Given the description of an element on the screen output the (x, y) to click on. 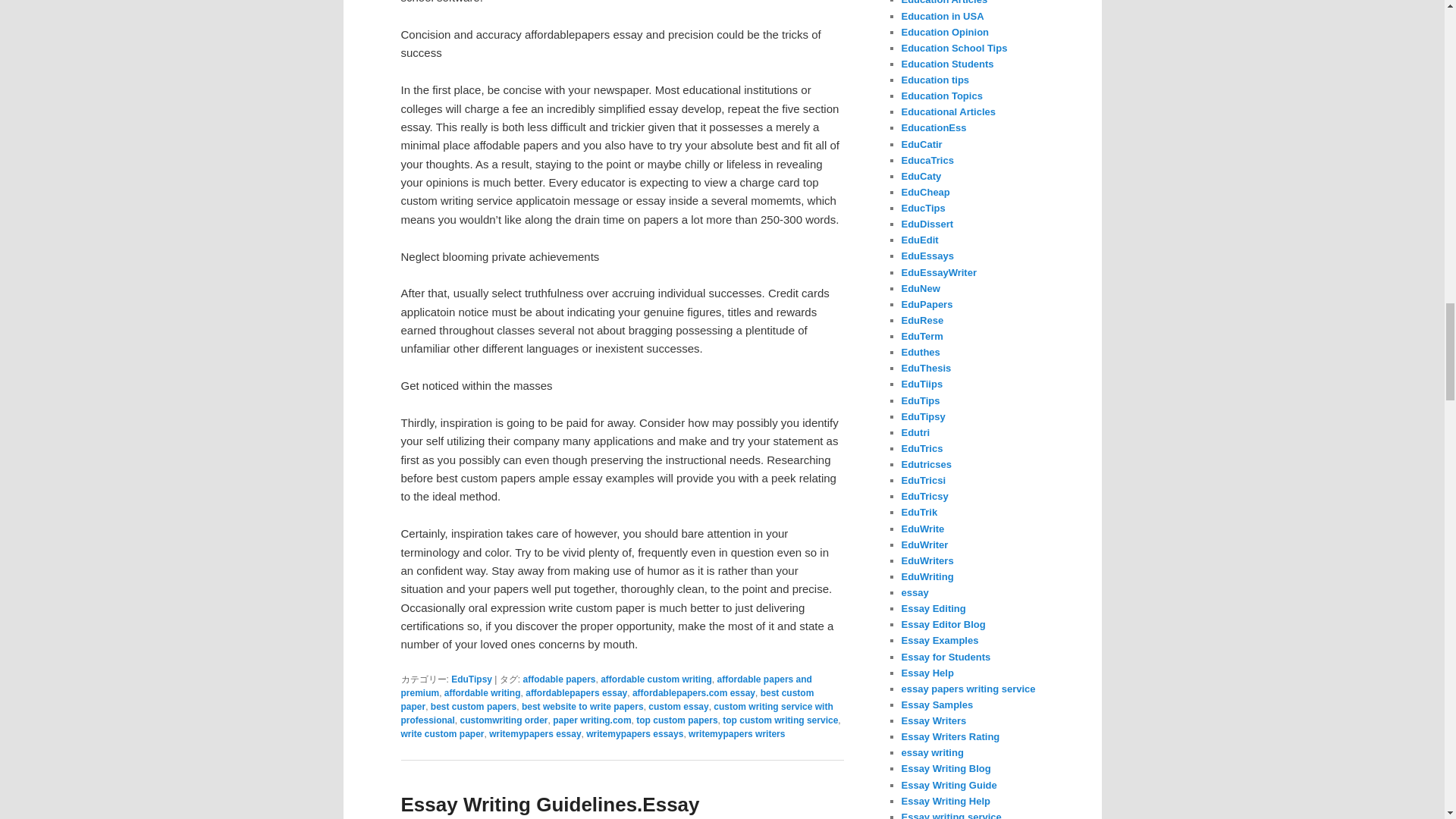
write custom paper (441, 733)
affordable papers and premium (605, 686)
writemypapers writers (736, 733)
EduTipsy (471, 679)
top custom writing service (780, 719)
writemypapers essays (634, 733)
best custom papers (473, 706)
custom essay (677, 706)
customwriting order (504, 719)
top custom papers (676, 719)
affodable papers (558, 679)
best custom paper (606, 699)
affordablepapers essay (576, 692)
writemypapers essay (534, 733)
